Given the description of an element on the screen output the (x, y) to click on. 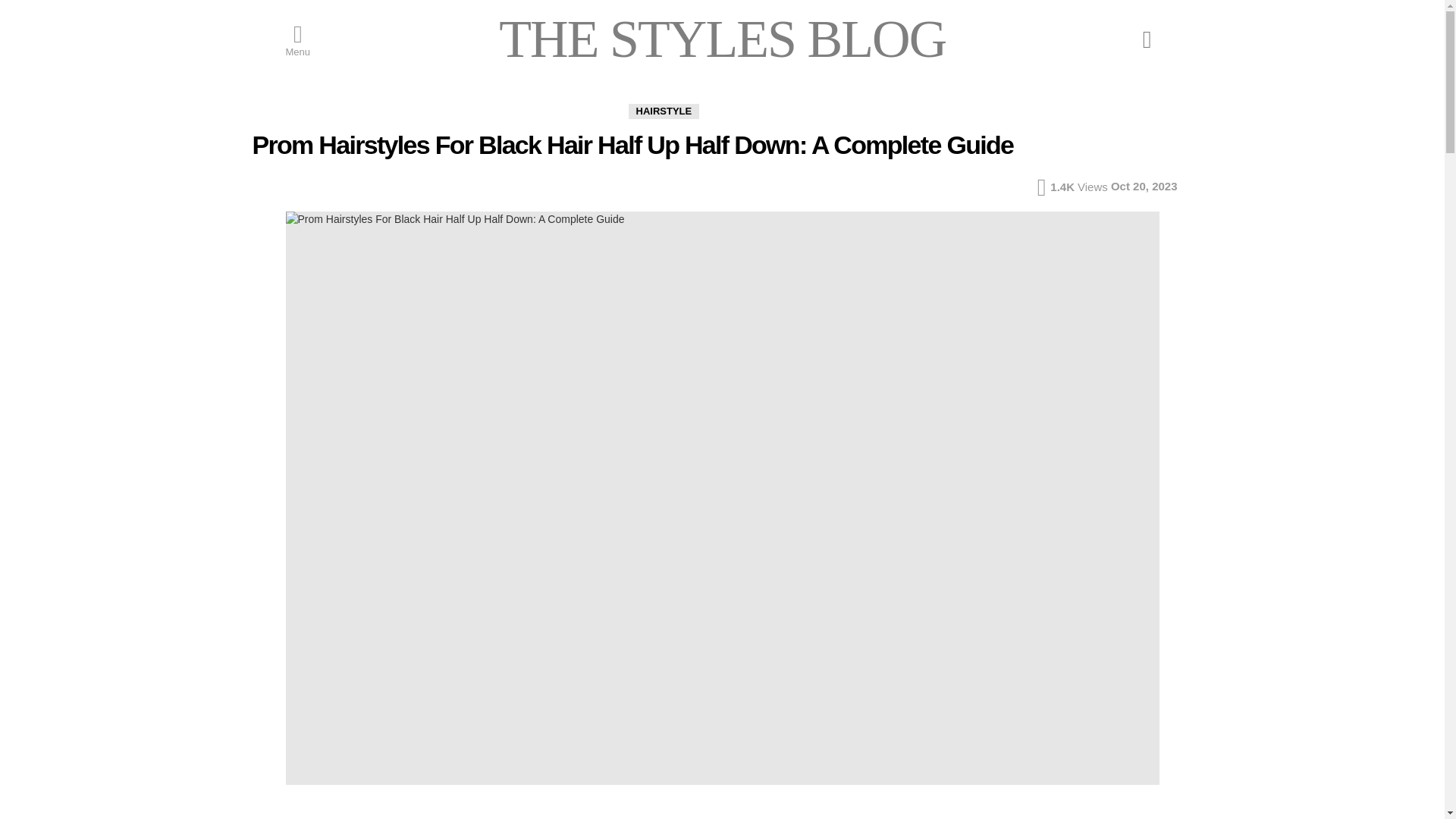
THE STYLES BLOG (721, 38)
HAIRSTYLE (662, 111)
